Given the description of an element on the screen output the (x, y) to click on. 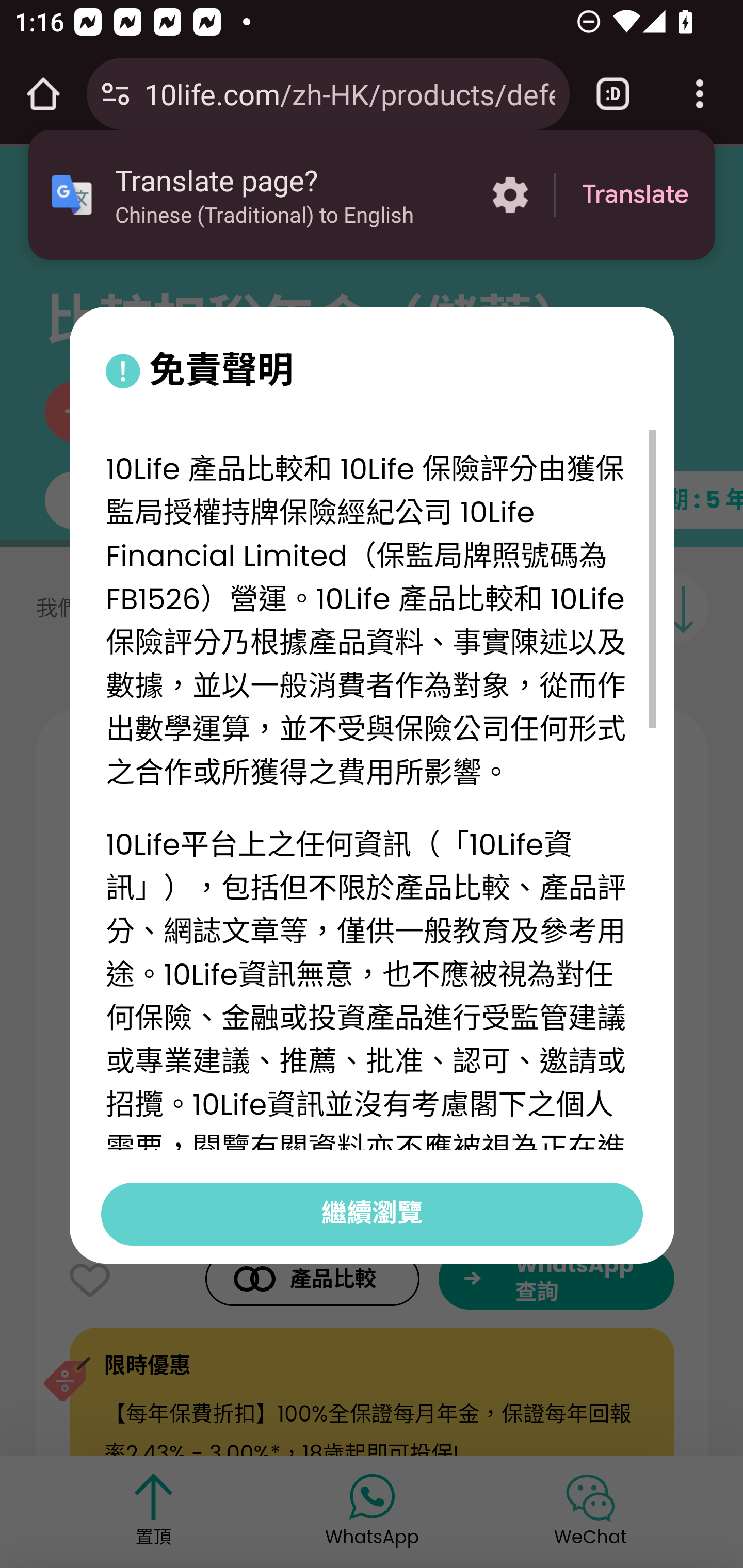
Open the home page (43, 93)
Connection is secure (115, 93)
Switch or close tabs (612, 93)
Customize and control Google Chrome (699, 93)
Translate (634, 195)
More options in the Translate page? (509, 195)
繼續瀏覽 (371, 1212)
